Given the description of an element on the screen output the (x, y) to click on. 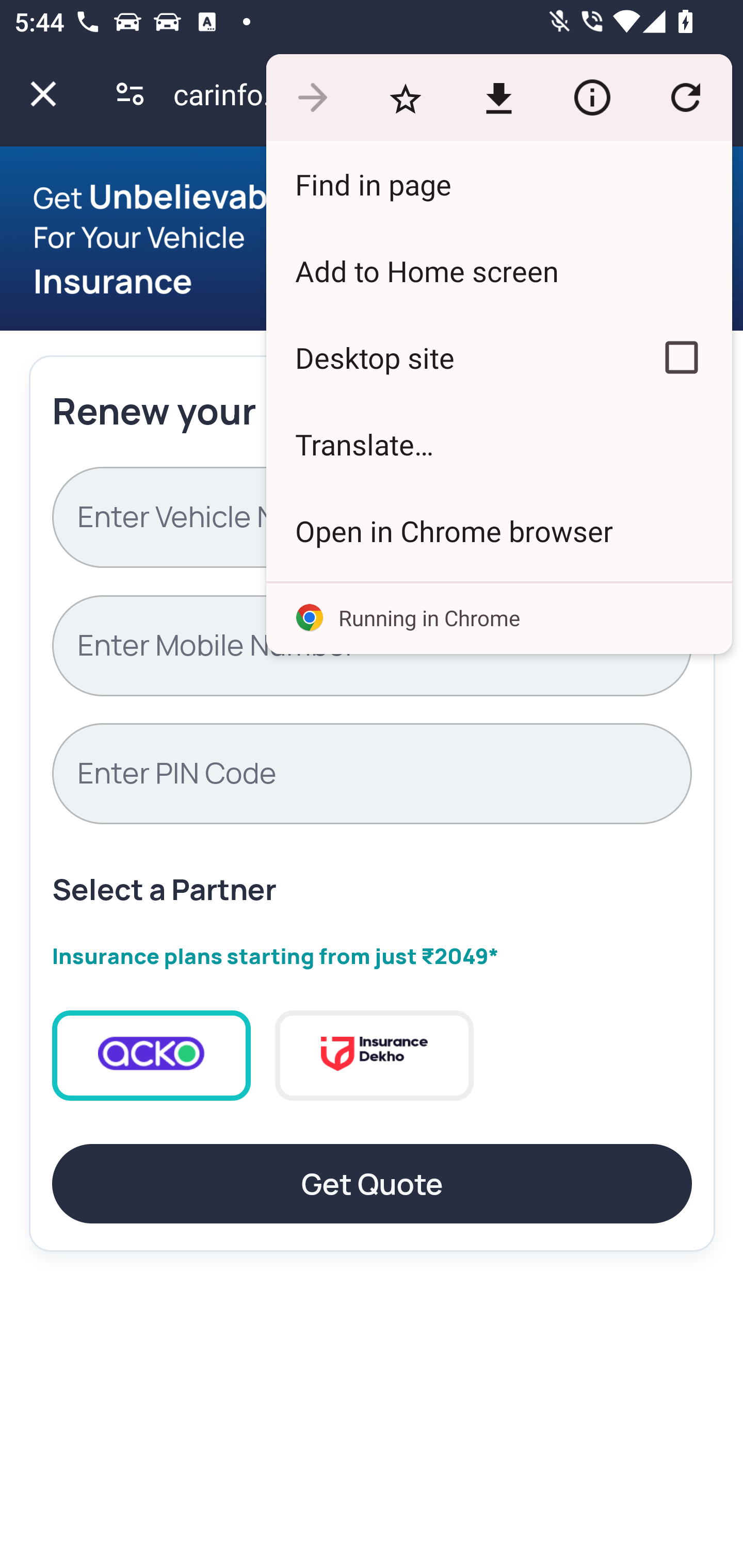
Go forward (311, 97)
Bookmark (404, 97)
Download this page (498, 97)
View site information (591, 97)
Refresh (684, 97)
Find in page (498, 184)
Add to Home screen (498, 270)
Desktop site Turn on Request desktop site (447, 357)
Translate… (498, 444)
Open in Chrome browser (498, 530)
